Given the description of an element on the screen output the (x, y) to click on. 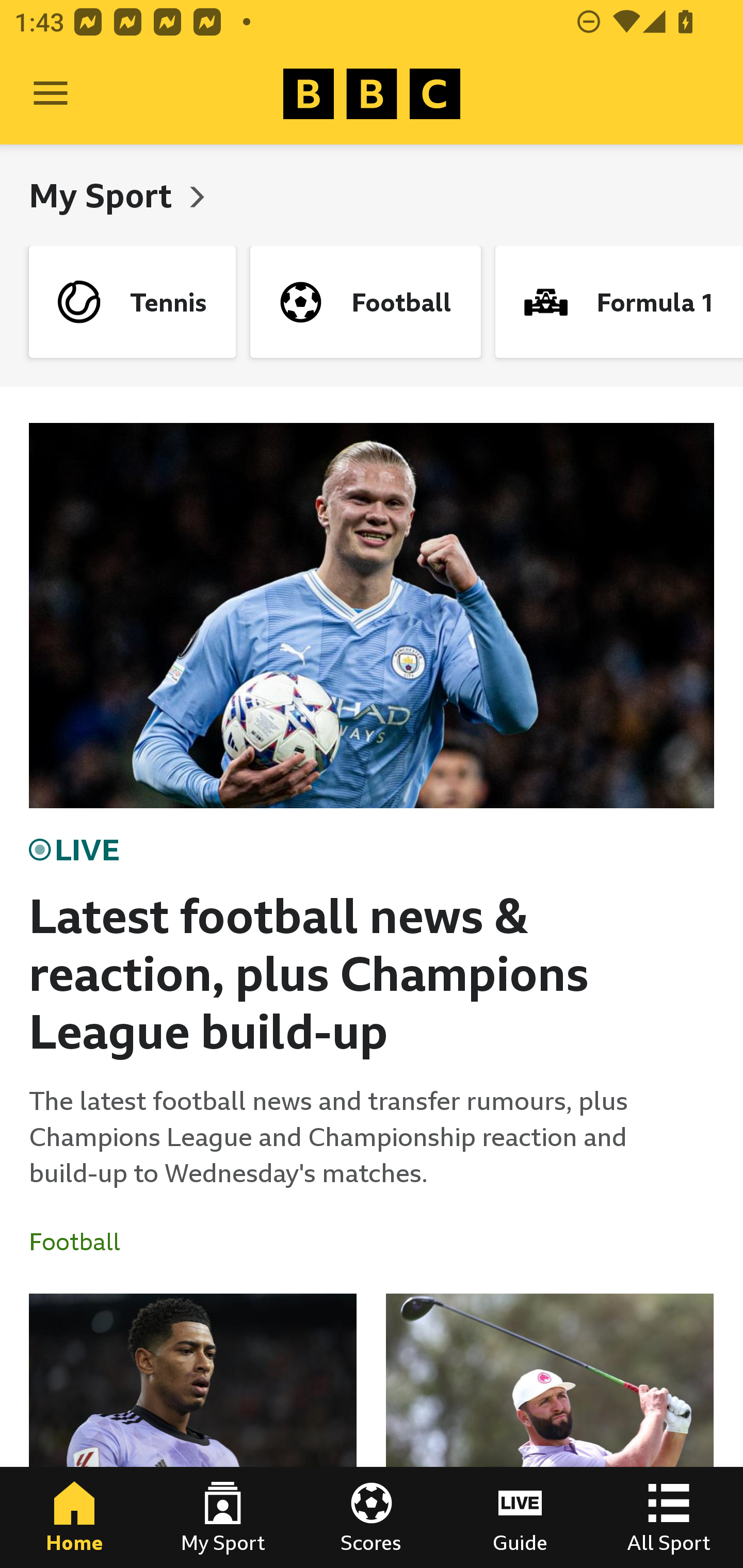
Open Menu (50, 93)
My Sport (104, 195)
Football In the section Football (81, 1241)
Real midfielder Bellingham banned for two games (192, 1430)
My Sport (222, 1517)
Scores (371, 1517)
Guide (519, 1517)
All Sport (668, 1517)
